Given the description of an element on the screen output the (x, y) to click on. 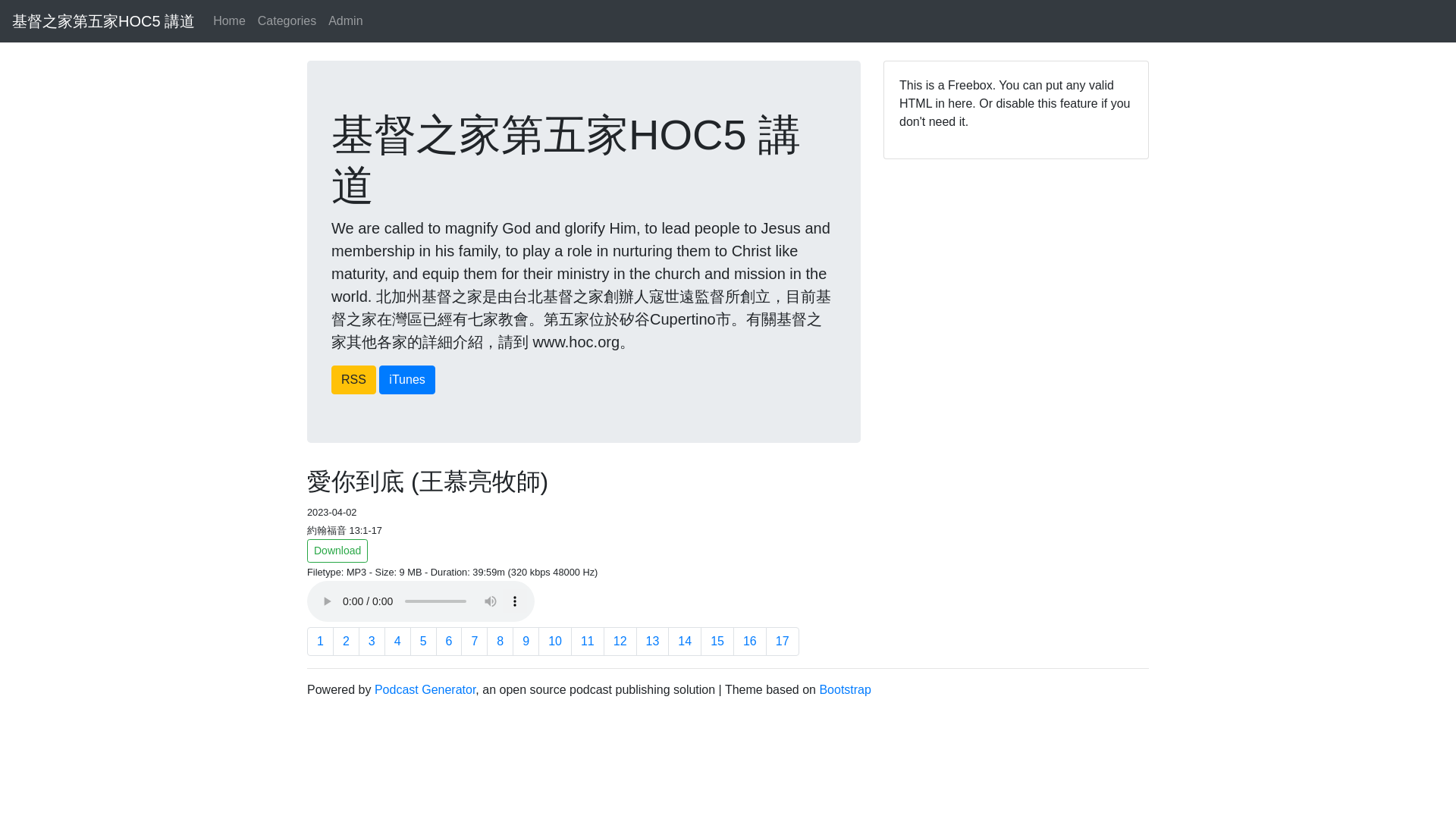
16 (750, 641)
10 (555, 641)
iTunes (405, 379)
Home (228, 20)
8 (499, 641)
3 (371, 641)
RSS (353, 379)
2 (346, 641)
17 (782, 641)
14 (684, 641)
Categories (286, 20)
9 (525, 641)
7 (474, 641)
12 (620, 641)
5 (423, 641)
